Given the description of an element on the screen output the (x, y) to click on. 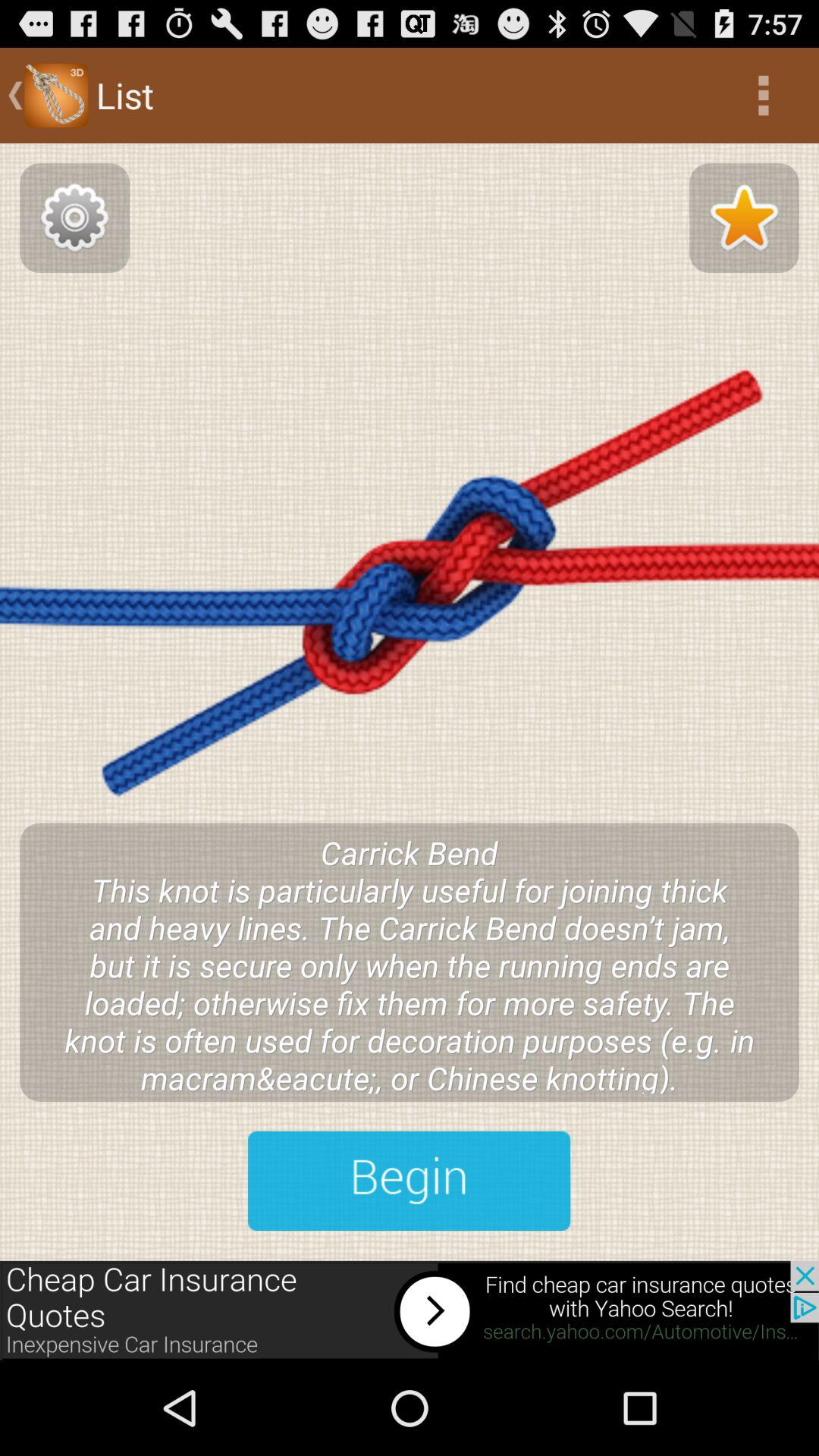
go to next (408, 1180)
